Given the description of an element on the screen output the (x, y) to click on. 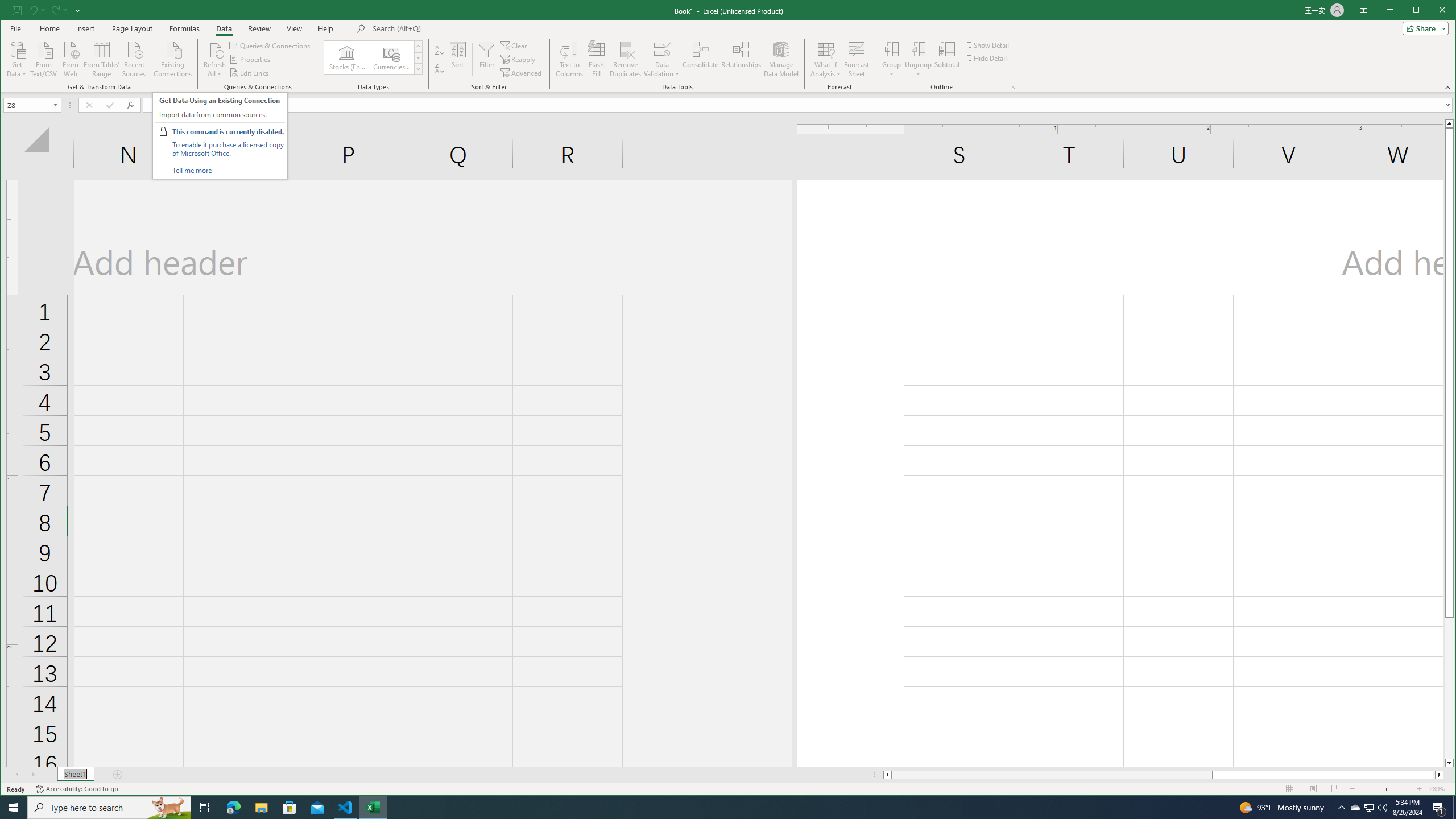
Running applications (717, 807)
User Promoted Notification Area (1368, 807)
Microsoft Store (289, 807)
